Given the description of an element on the screen output the (x, y) to click on. 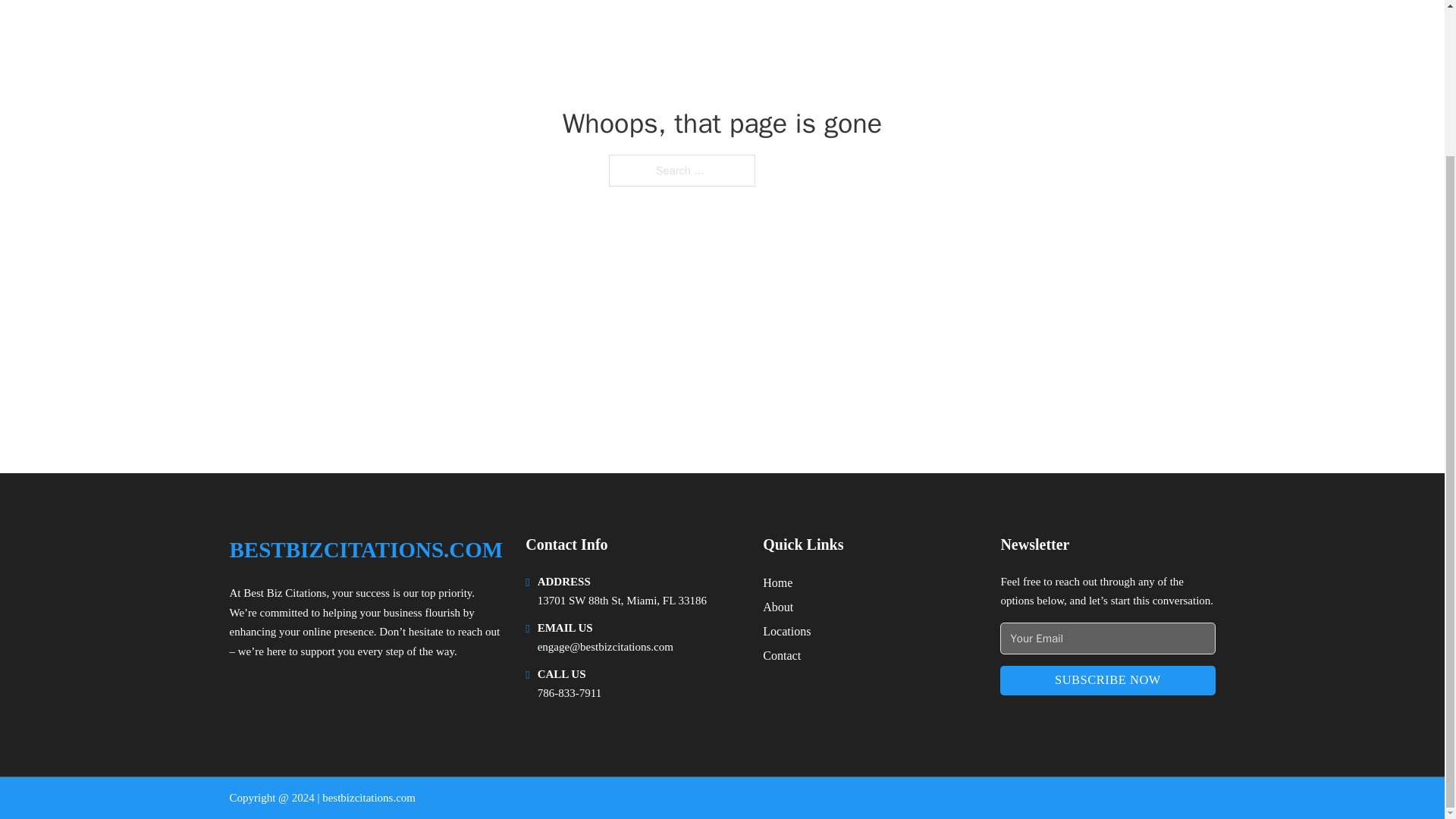
SUBSCRIBE NOW (1107, 680)
Home (777, 582)
Locations (786, 630)
About (777, 607)
BESTBIZCITATIONS.COM (365, 549)
Contact (781, 655)
786-833-7911 (569, 693)
